Given the description of an element on the screen output the (x, y) to click on. 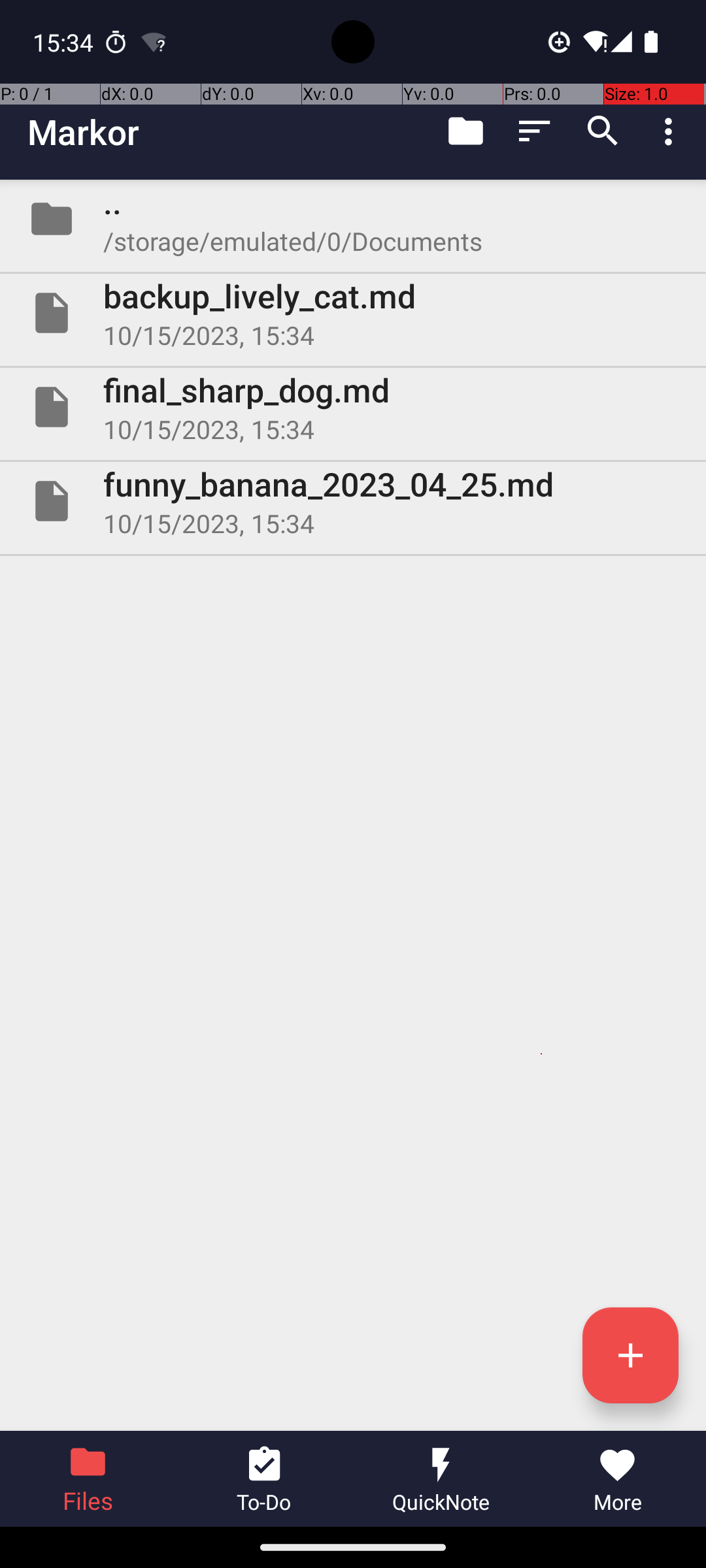
File backup_lively_cat.md  Element type: android.widget.LinearLayout (353, 312)
File final_sharp_dog.md  Element type: android.widget.LinearLayout (353, 406)
File funny_banana_2023_04_25.md  Element type: android.widget.LinearLayout (353, 500)
